Given the description of an element on the screen output the (x, y) to click on. 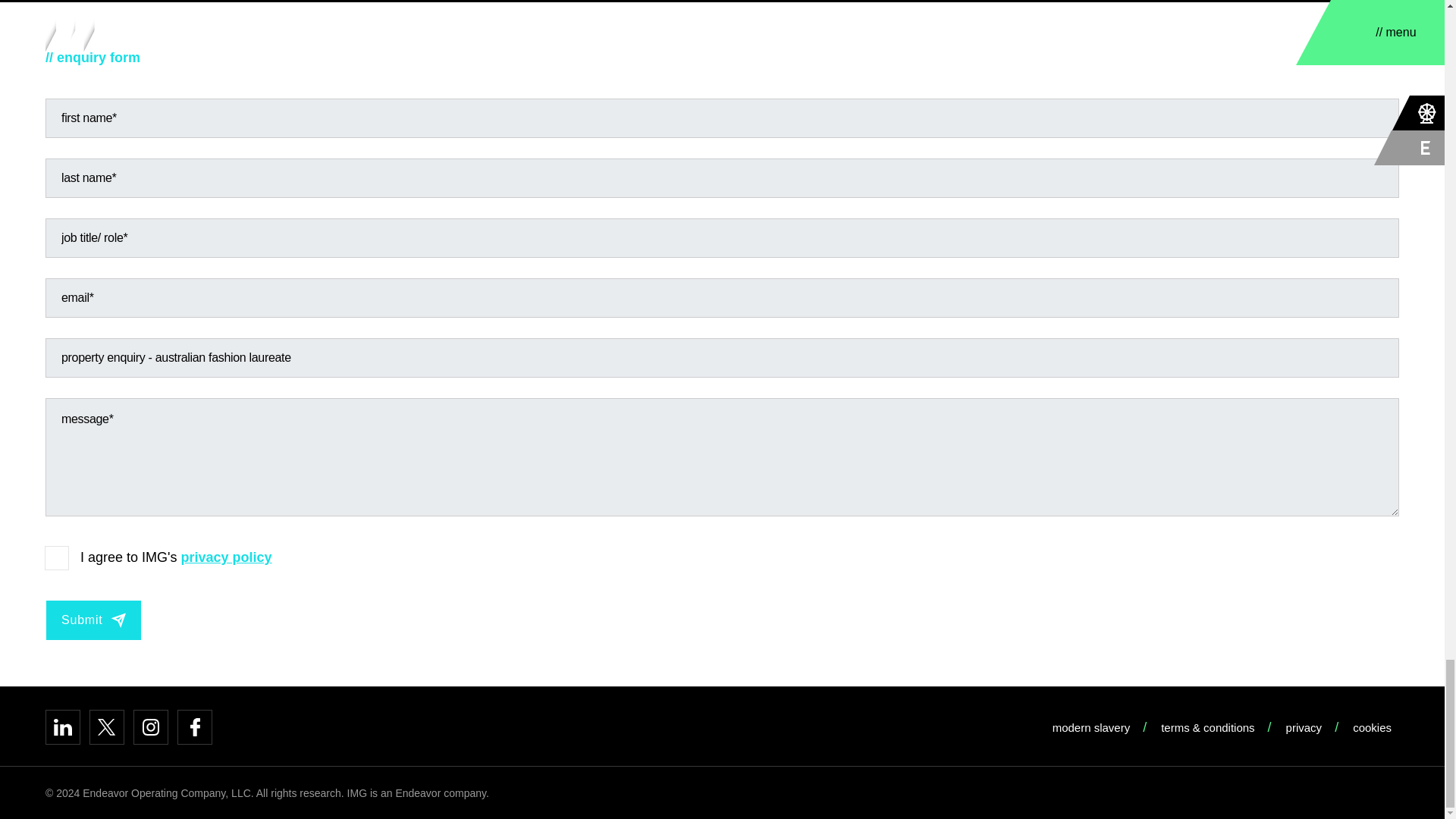
modern slavery (1095, 727)
1 (56, 558)
privacy (1307, 727)
privacy policy (225, 557)
property enquiry - australian fashion laureate (722, 357)
cookies (1375, 727)
Submit (93, 619)
